Given the description of an element on the screen output the (x, y) to click on. 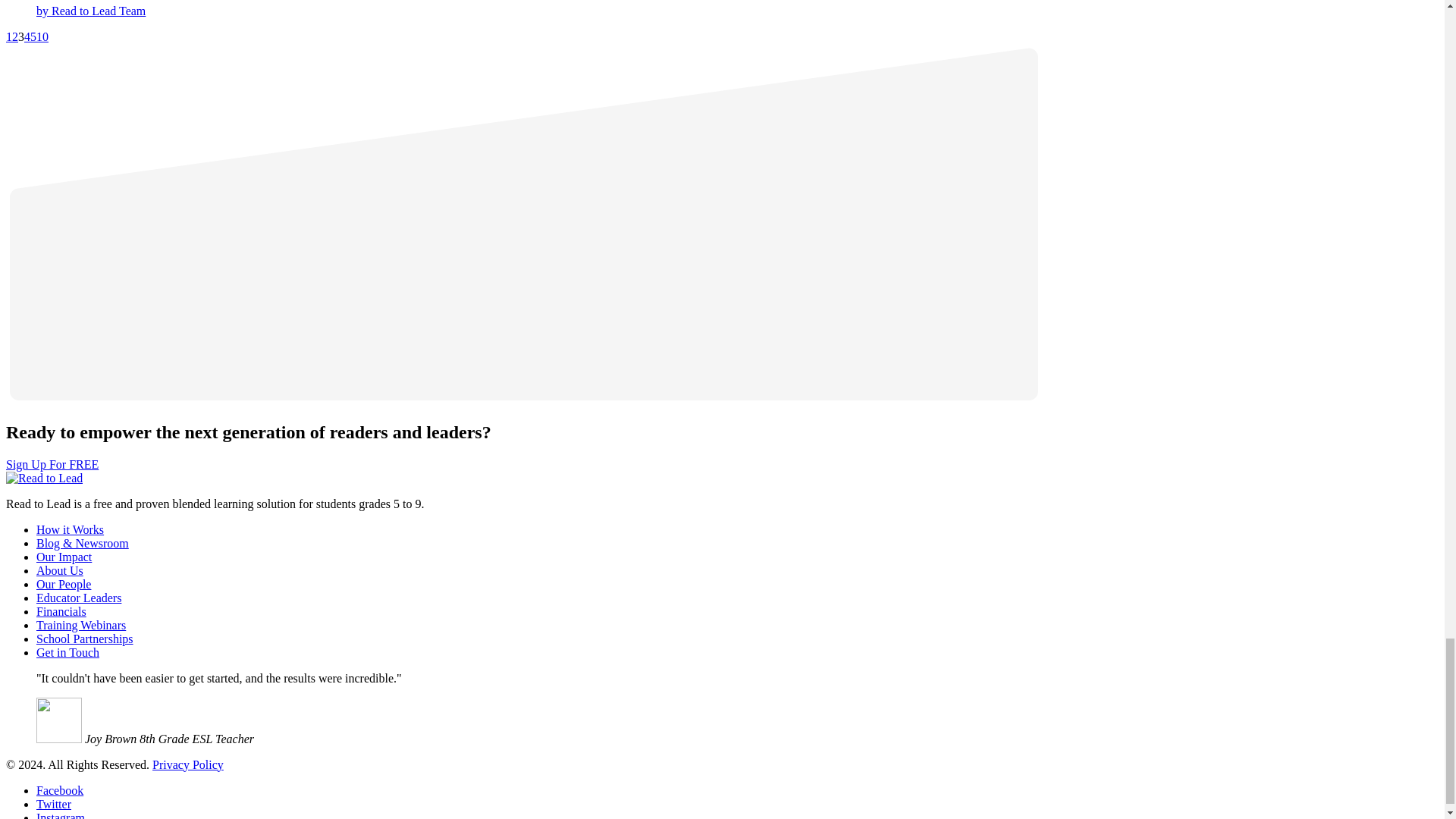
Educator Leaders (78, 596)
Facebook (59, 789)
School Partnerships (84, 637)
Privacy Policy (188, 763)
Financials (60, 610)
About Us (59, 569)
How it Works (69, 528)
Training Webinars (80, 624)
Twitter (53, 802)
Our People (63, 583)
Sign Up For FREE (52, 463)
Our Impact (63, 555)
10 (42, 36)
Get in Touch (67, 651)
Page 10 (42, 36)
